Given the description of an element on the screen output the (x, y) to click on. 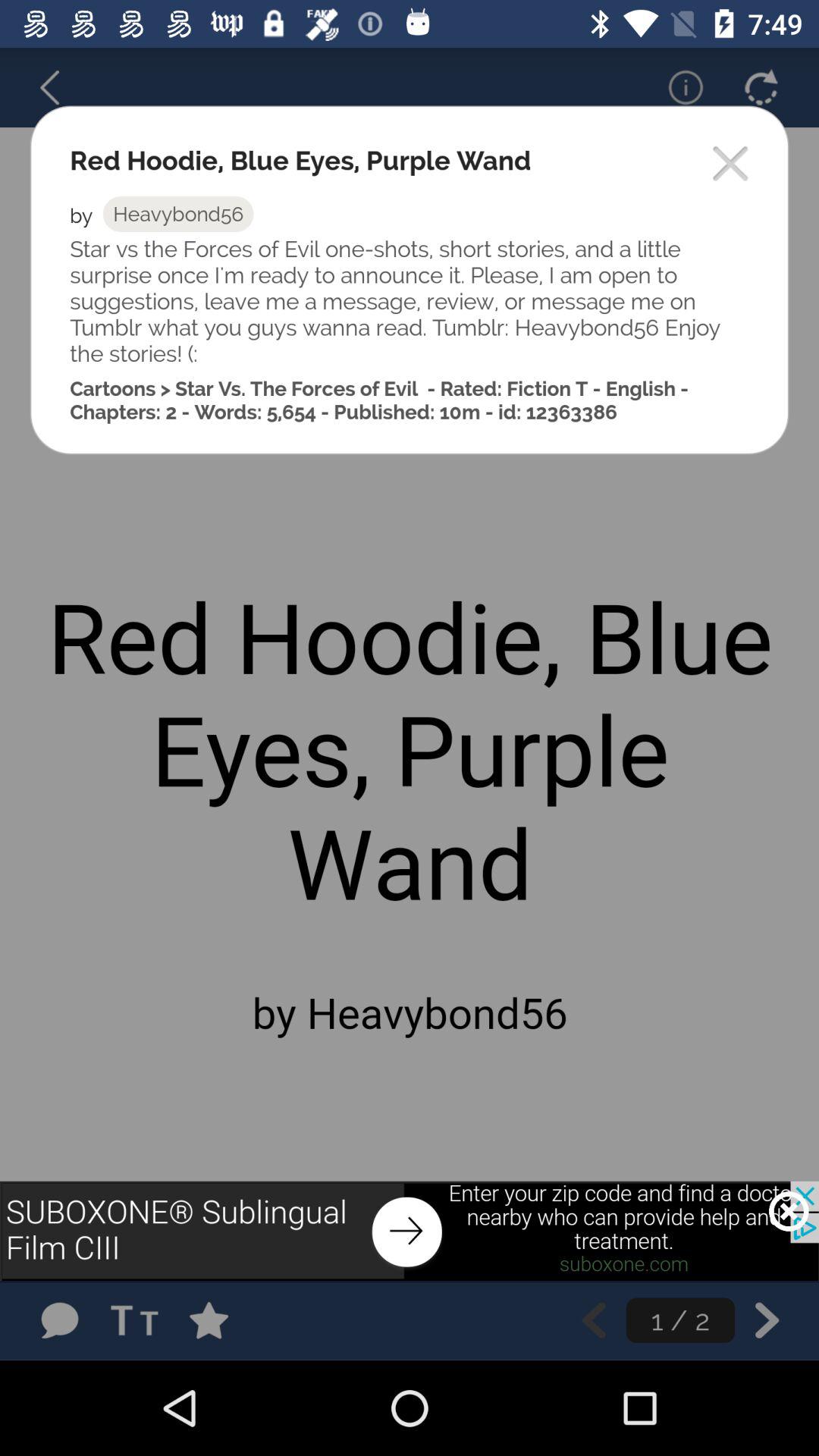
go foward (767, 1320)
